Given the description of an element on the screen output the (x, y) to click on. 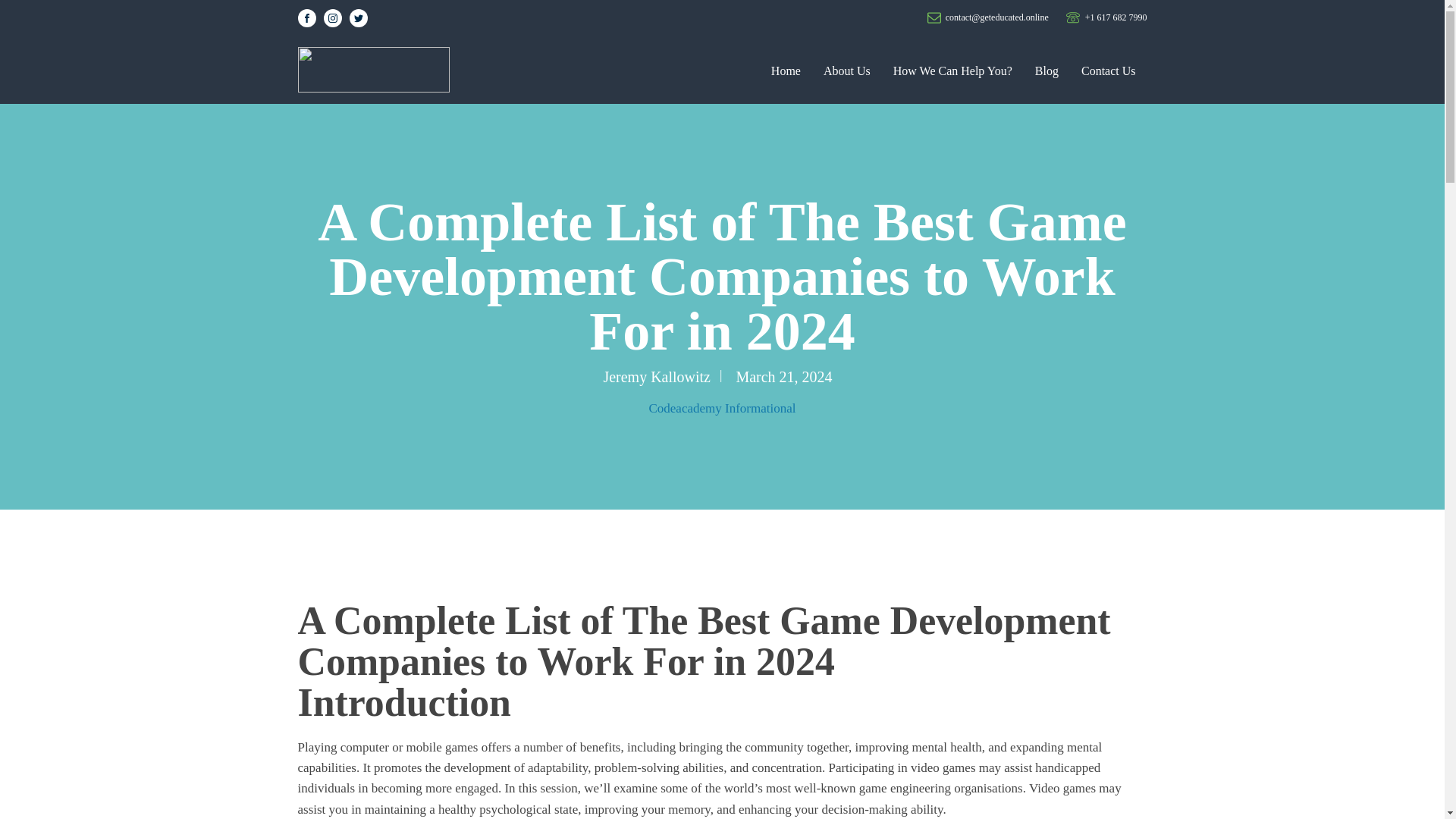
Blog (1046, 70)
Contact Us (1108, 70)
Codeacademy Informational (720, 408)
About Us (847, 70)
How We Can Help You? (952, 70)
Home (786, 70)
